Given the description of an element on the screen output the (x, y) to click on. 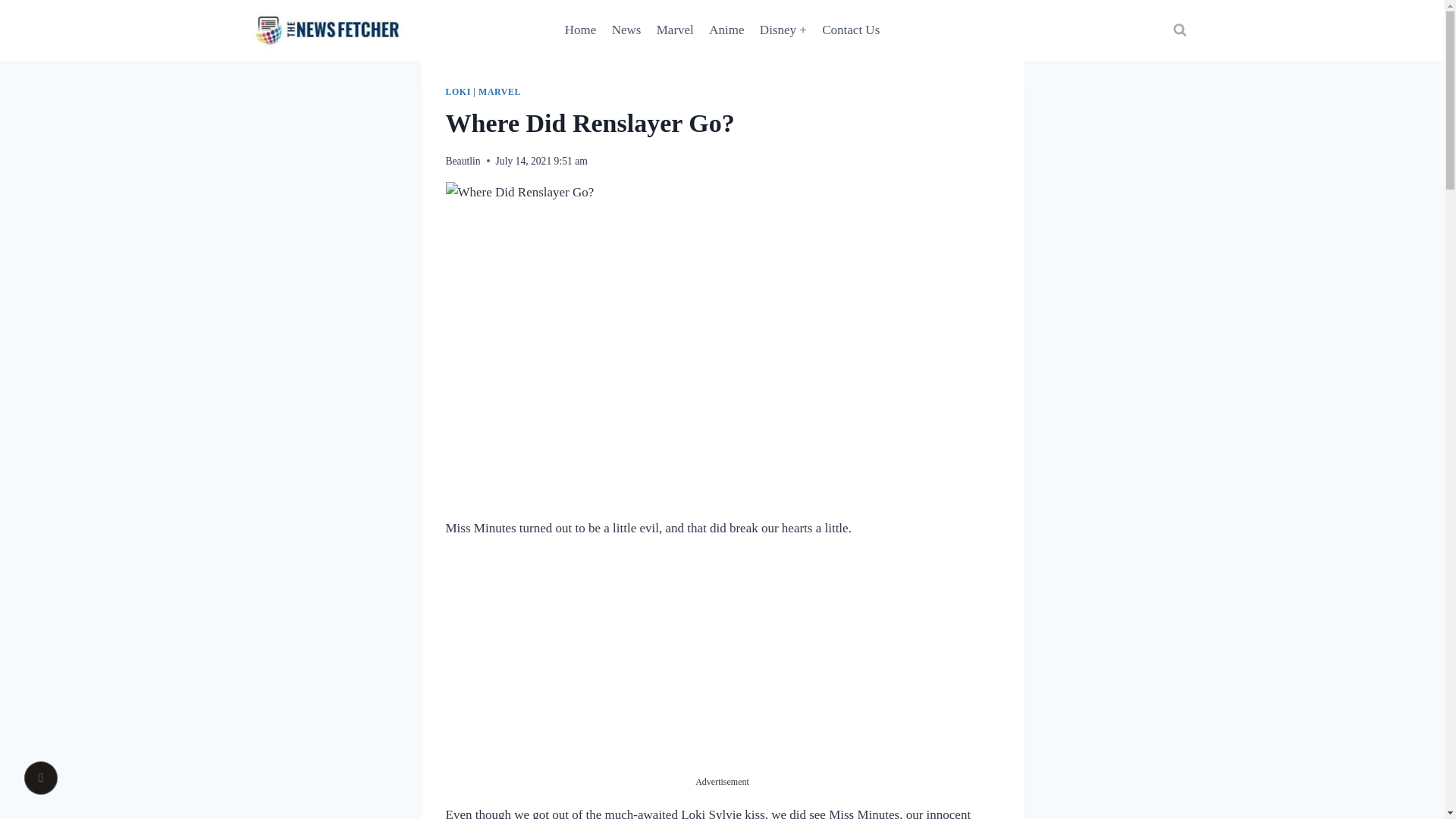
News (625, 30)
Home (580, 30)
Anime (726, 30)
Beautlin (462, 161)
MARVEL (500, 91)
Advertisement (720, 668)
Marvel (675, 30)
LOKI (457, 91)
Contact Us (849, 30)
